Given the description of an element on the screen output the (x, y) to click on. 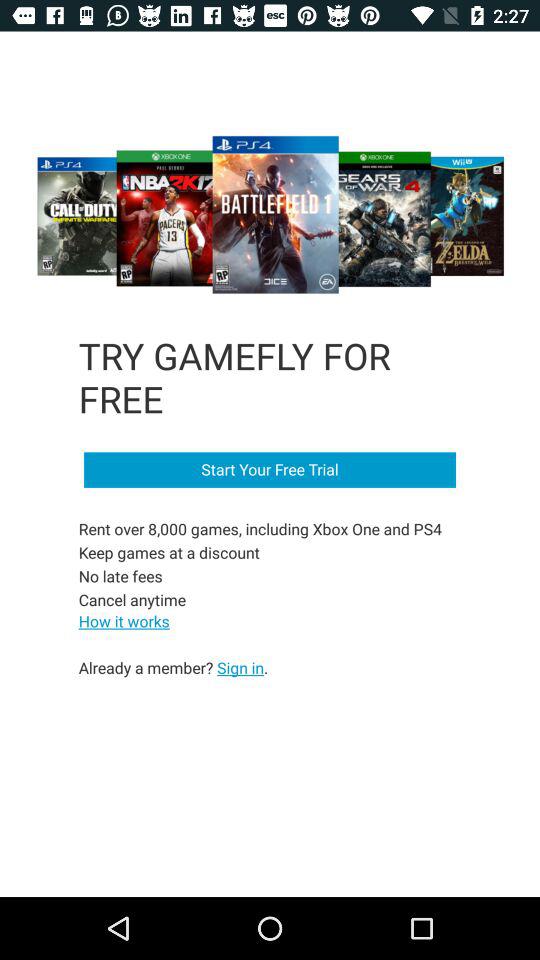
open icon below try gamefly for icon (269, 469)
